Given the description of an element on the screen output the (x, y) to click on. 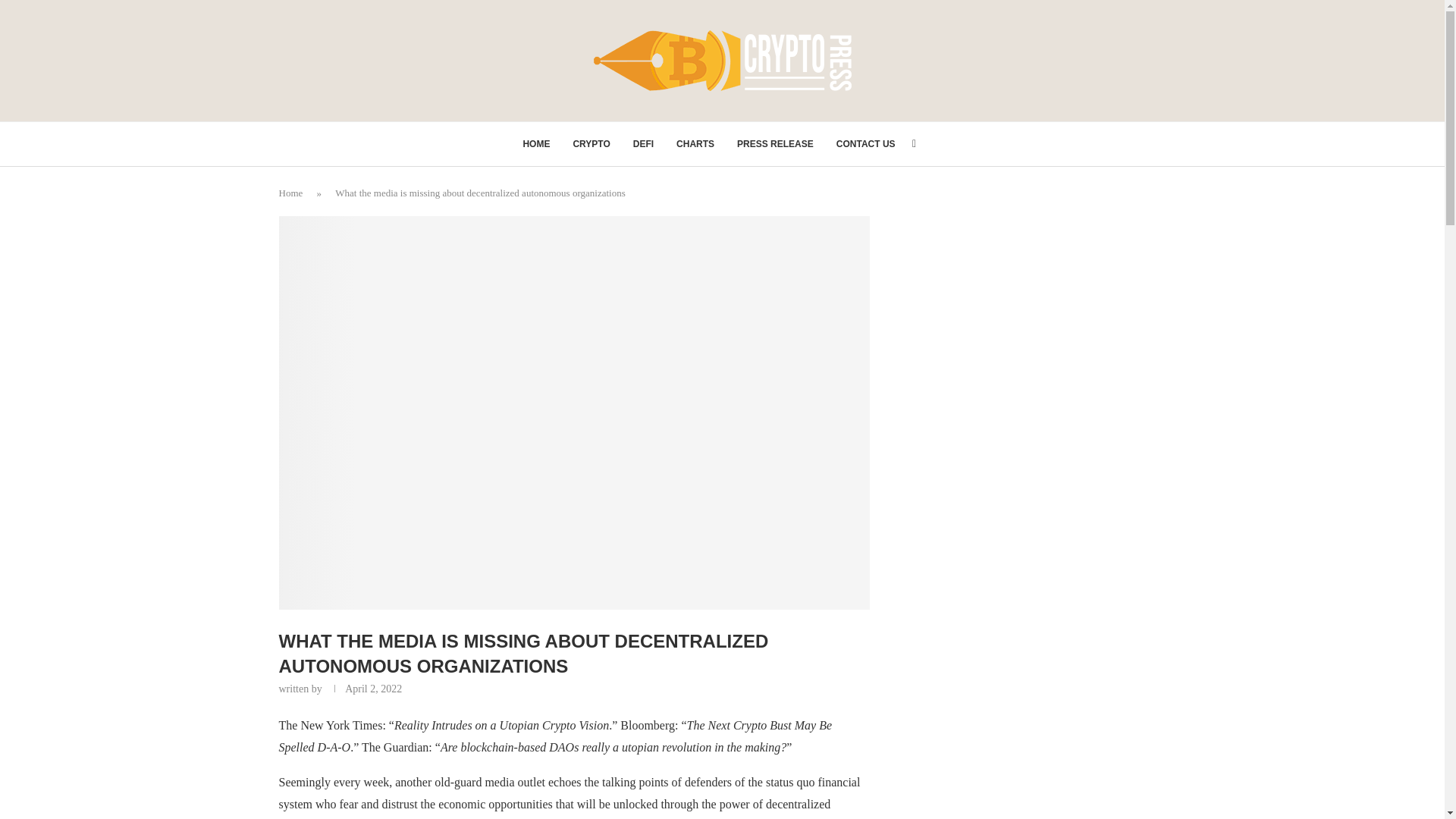
CONTACT US (865, 144)
PRESS RELEASE (774, 144)
Home (290, 193)
